Given the description of an element on the screen output the (x, y) to click on. 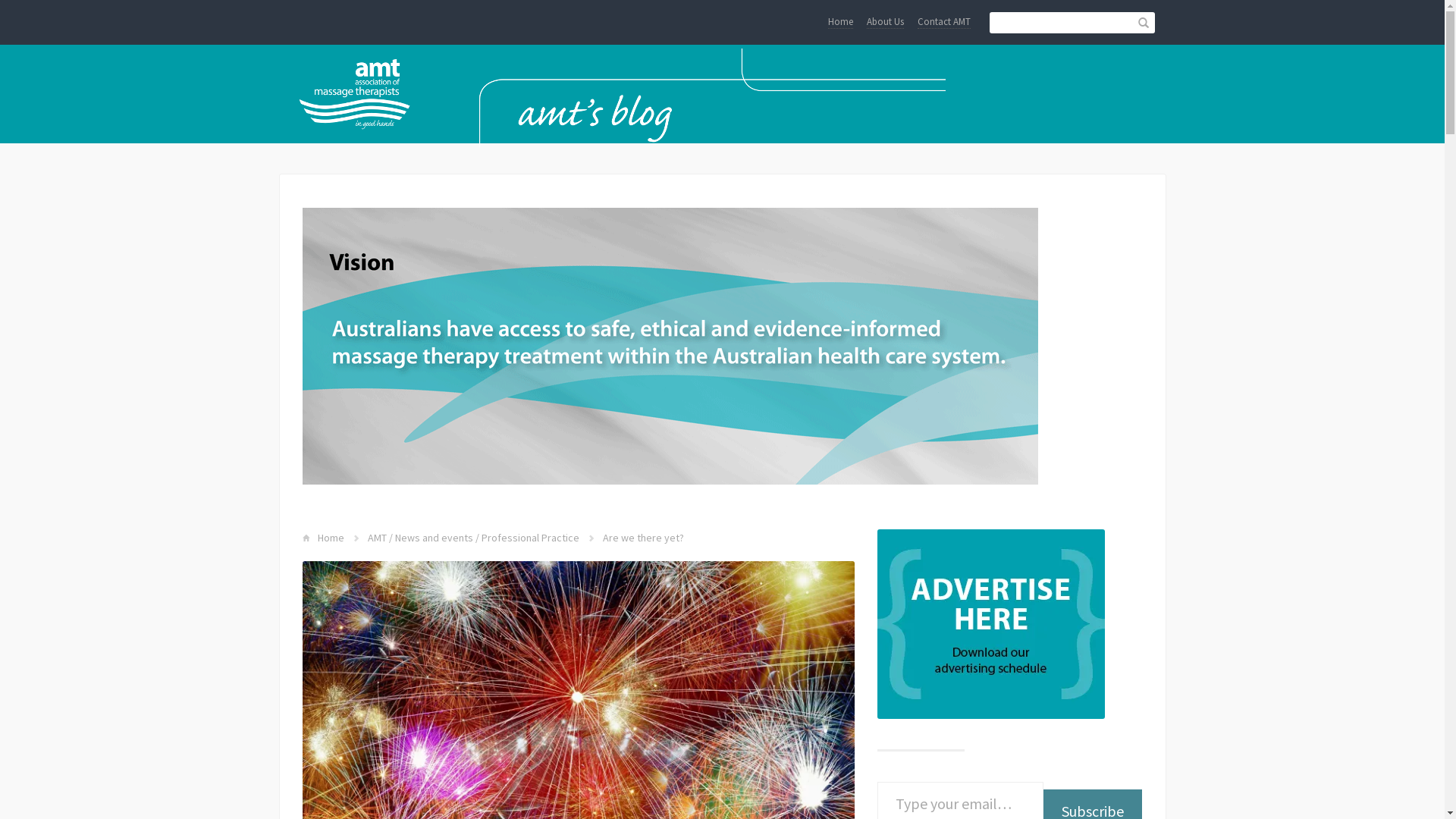
Home Element type: text (329, 537)
AMT Element type: text (376, 537)
Contact AMT Element type: text (943, 21)
Professional Practice Element type: text (529, 537)
News and events Element type: text (433, 537)
About Us Element type: text (884, 21)
Home Element type: text (840, 21)
